Given the description of an element on the screen output the (x, y) to click on. 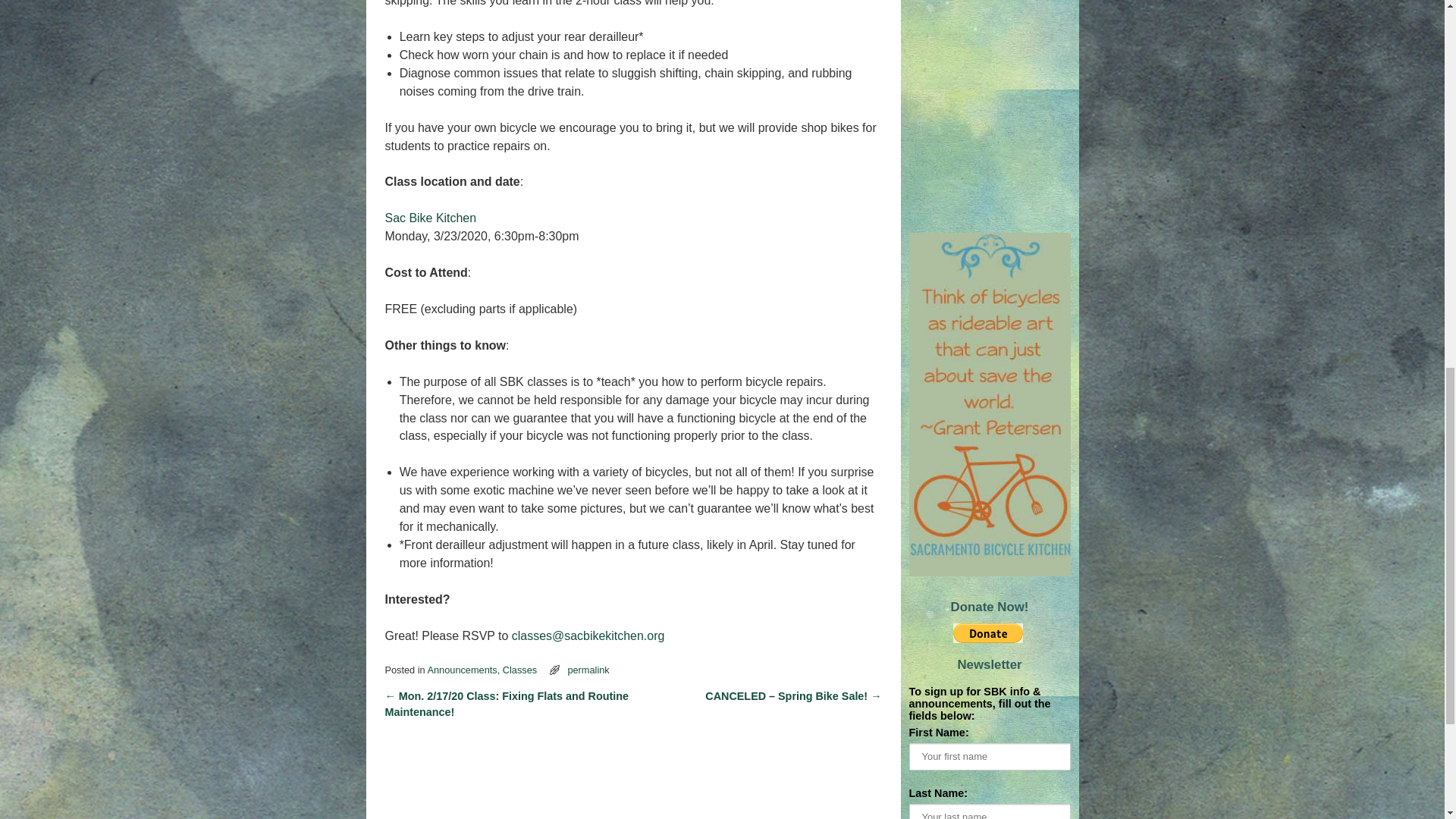
Classes (519, 669)
permalink (587, 669)
Permalink to CANCELED-Upcoming Class: Drive Trains, Part 1 (587, 669)
Announcements (462, 669)
Sac Bike Kitchen (431, 217)
